Given the description of an element on the screen output the (x, y) to click on. 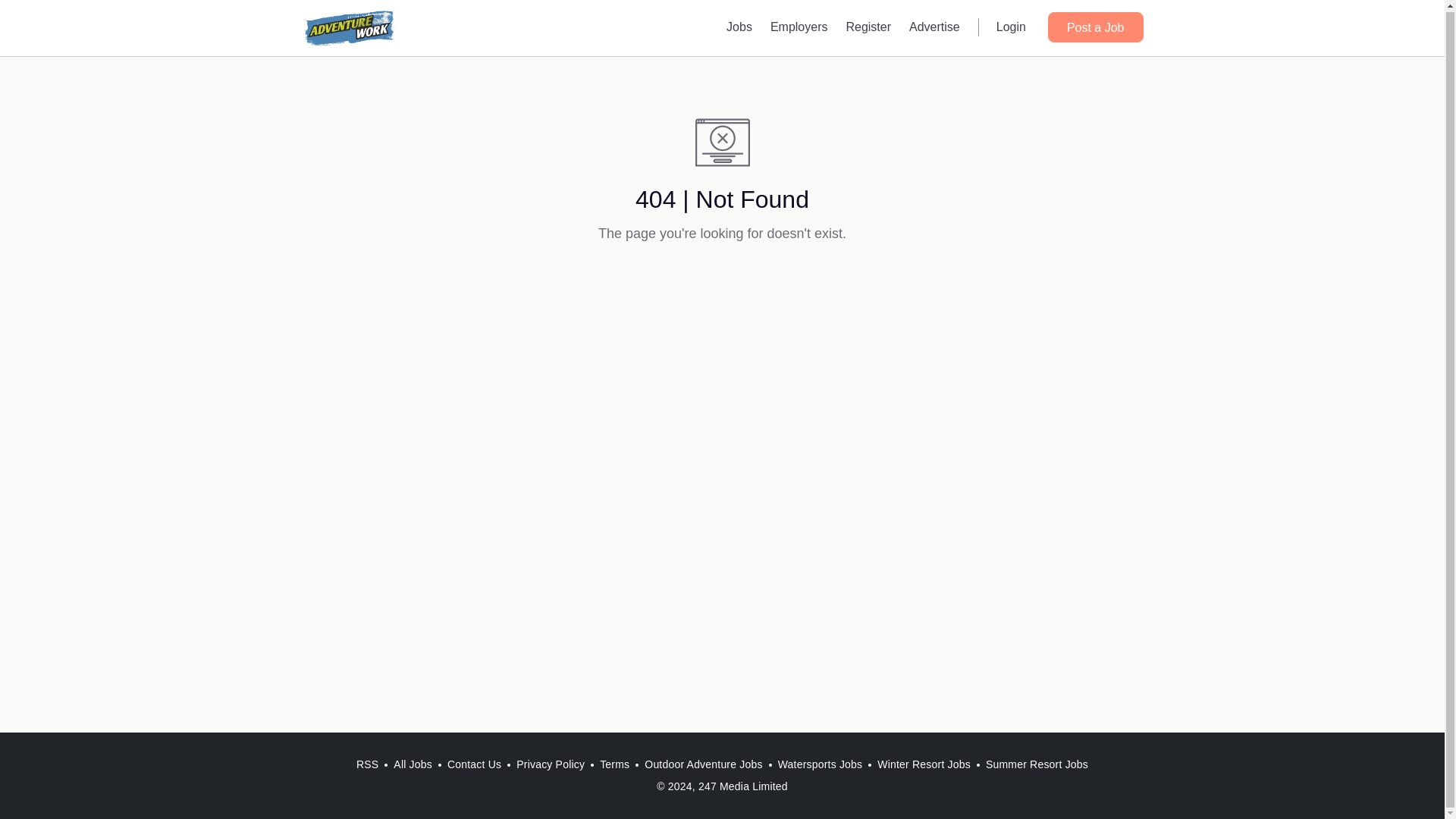
Jobs (739, 25)
Watersports Jobs (820, 764)
Outdoor Adventure Jobs (703, 764)
Login (1011, 25)
Post a Job (1095, 26)
Advertise (934, 25)
Terms (614, 764)
Register (867, 25)
Privacy Policy (550, 764)
All Jobs (412, 764)
Winter Resort Jobs (923, 764)
Employers (799, 25)
Summer Resort Jobs (1037, 764)
Contact Us (473, 764)
RSS (367, 764)
